Given the description of an element on the screen output the (x, y) to click on. 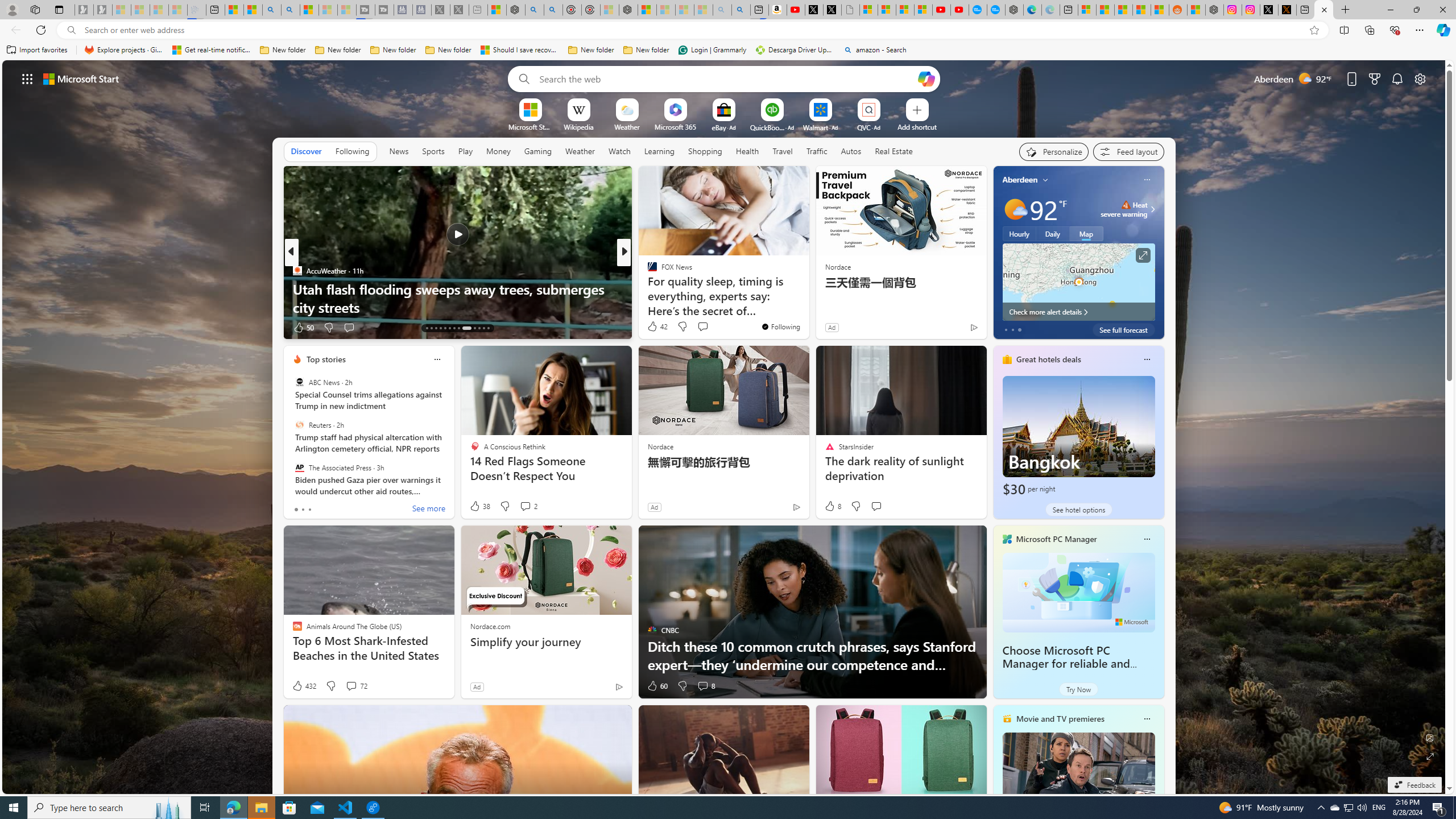
Amazon Echo Dot PNG - Search Images (740, 9)
Nordace - Summer Adventures 2024 (1214, 9)
More options (1146, 718)
tab-0 (295, 509)
Favorites bar (728, 49)
New split screen (759, 9)
Shopping (705, 151)
Class: icon-img (1146, 718)
Descarga Driver Updater (794, 49)
